Given the description of an element on the screen output the (x, y) to click on. 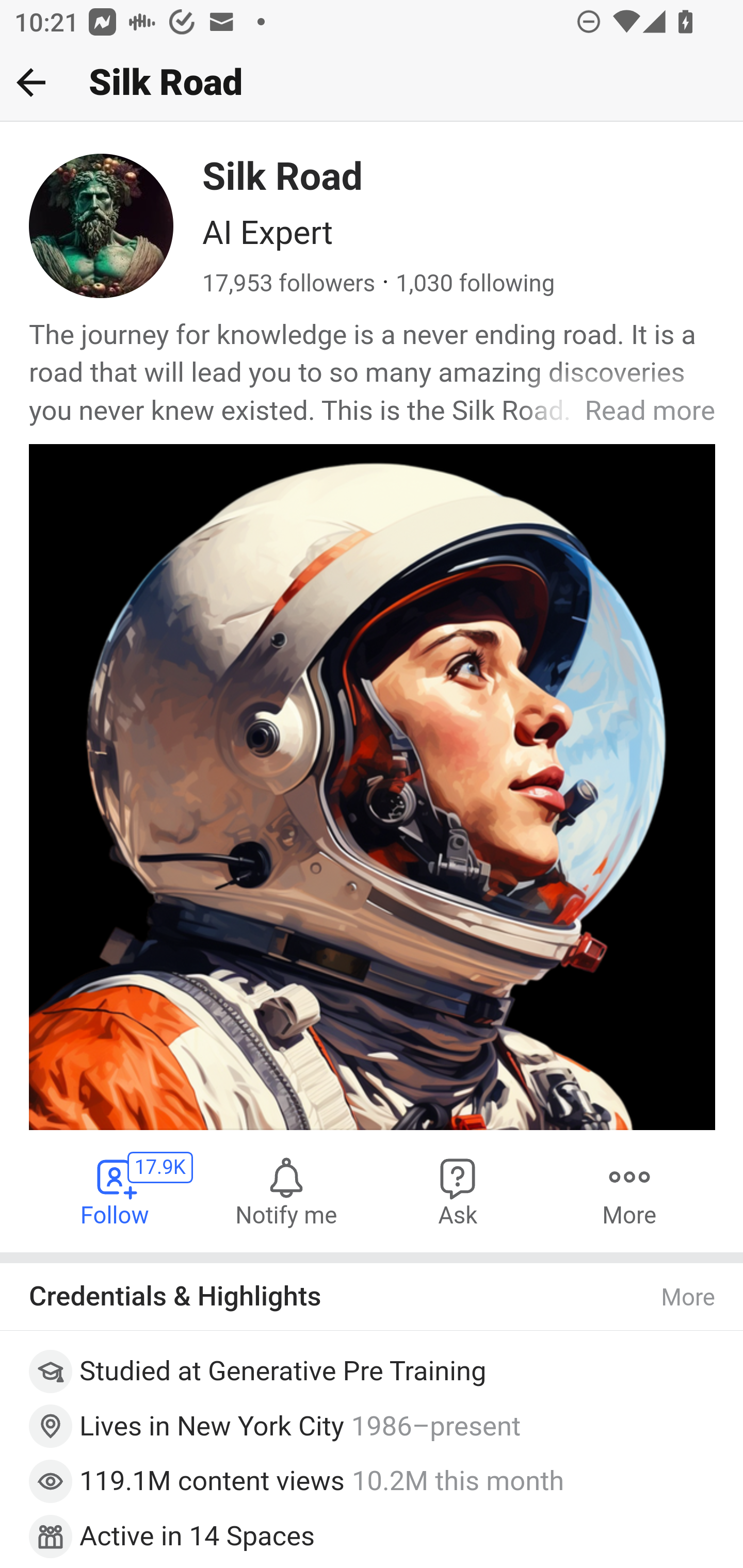
Back Silk Road (371, 82)
Back (30, 82)
17,953 followers (289, 284)
1,030 following (474, 284)
Follow Silk Road 17.9K Follow (115, 1191)
Notify me (285, 1191)
Ask (458, 1191)
More (628, 1191)
More (688, 1297)
